Given the description of an element on the screen output the (x, y) to click on. 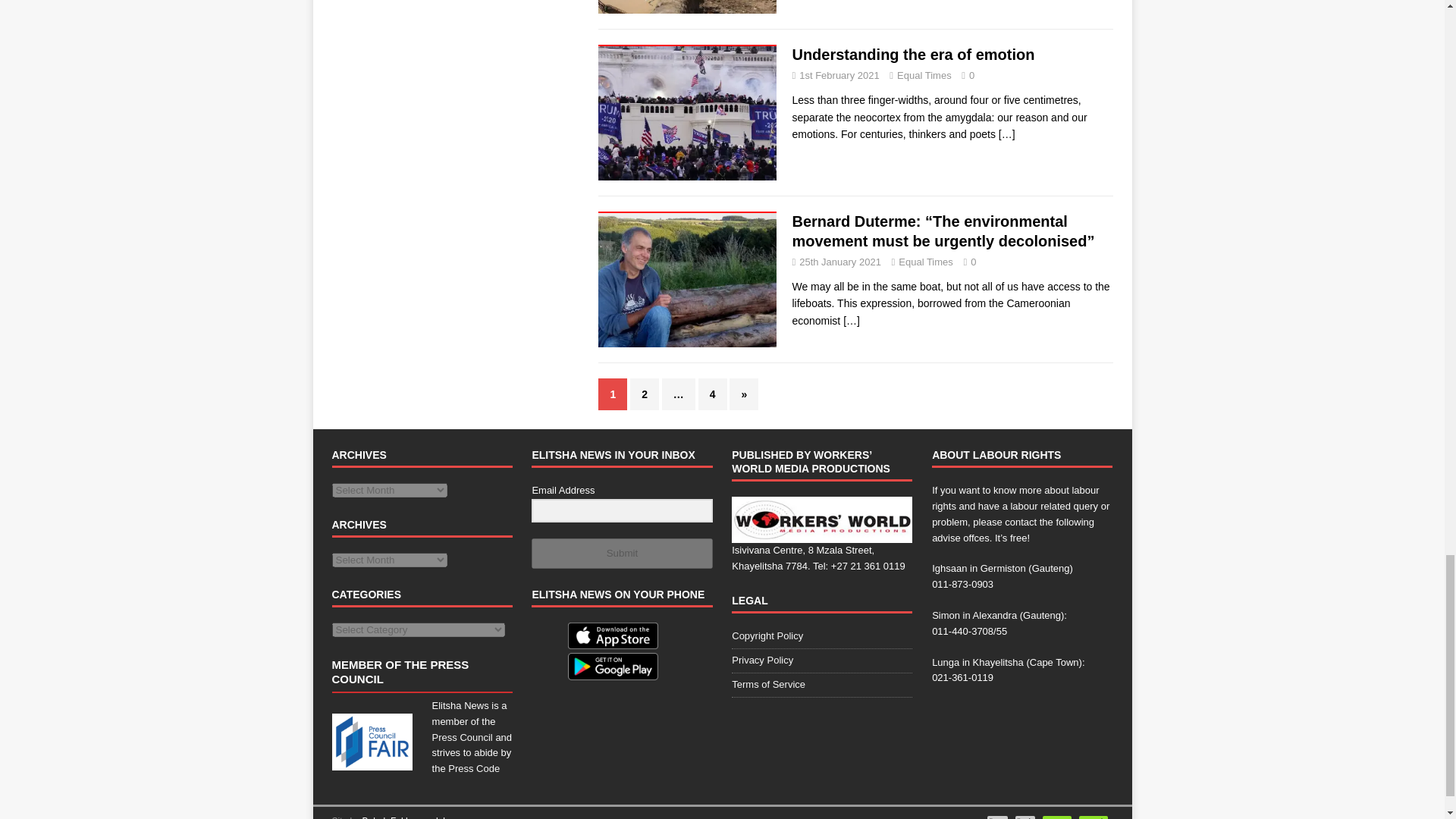
Understanding the era of emotion (1006, 133)
